Given the description of an element on the screen output the (x, y) to click on. 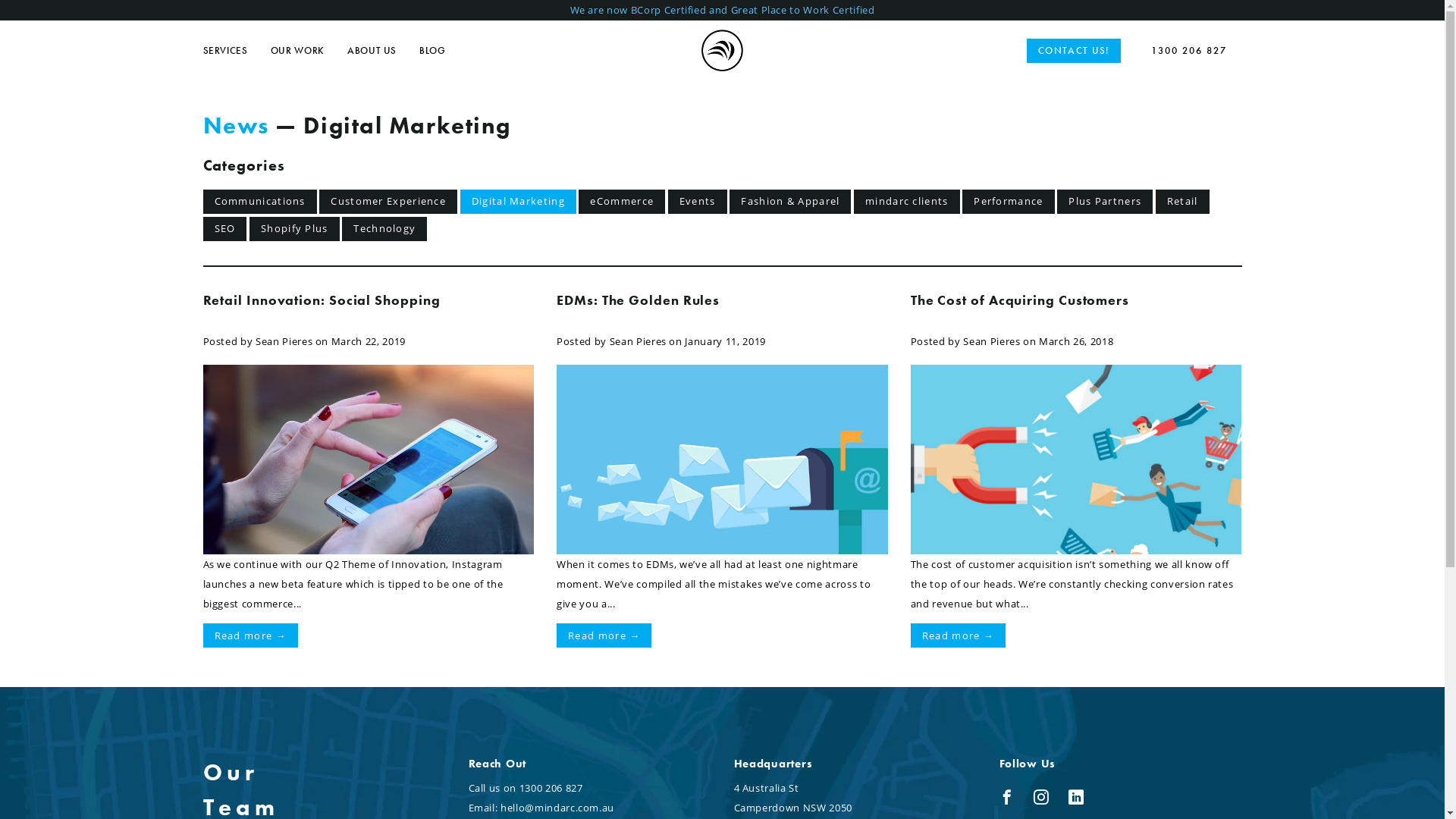
LinkedIn Element type: text (1080, 799)
Technology Element type: text (384, 228)
Instagram Element type: text (1045, 799)
ABOUT US Element type: text (383, 50)
OUR WORK Element type: text (308, 50)
mindarc clients Element type: text (906, 201)
Performance Element type: text (1007, 201)
The Cost of Acquiring Customers Element type: text (1019, 299)
News Element type: text (236, 124)
Retail Element type: text (1182, 201)
eCommerce Element type: text (621, 201)
Facebook Element type: text (1010, 799)
CONTACT US! Element type: text (1073, 50)
Fashion & Apparel Element type: text (789, 201)
Communications Element type: text (258, 201)
Plus Partners Element type: text (1104, 201)
SEO Element type: text (224, 228)
Retail Innovation: Social Shopping Element type: text (321, 299)
Customer Experience Element type: text (387, 201)
EDMs: The Golden Rules Element type: text (637, 299)
BLOG Element type: text (443, 50)
MindArc Element type: text (722, 50)
Events Element type: text (697, 201)
Shopify Plus Element type: text (294, 228)
SERVICES Element type: text (236, 50)
